Given the description of an element on the screen output the (x, y) to click on. 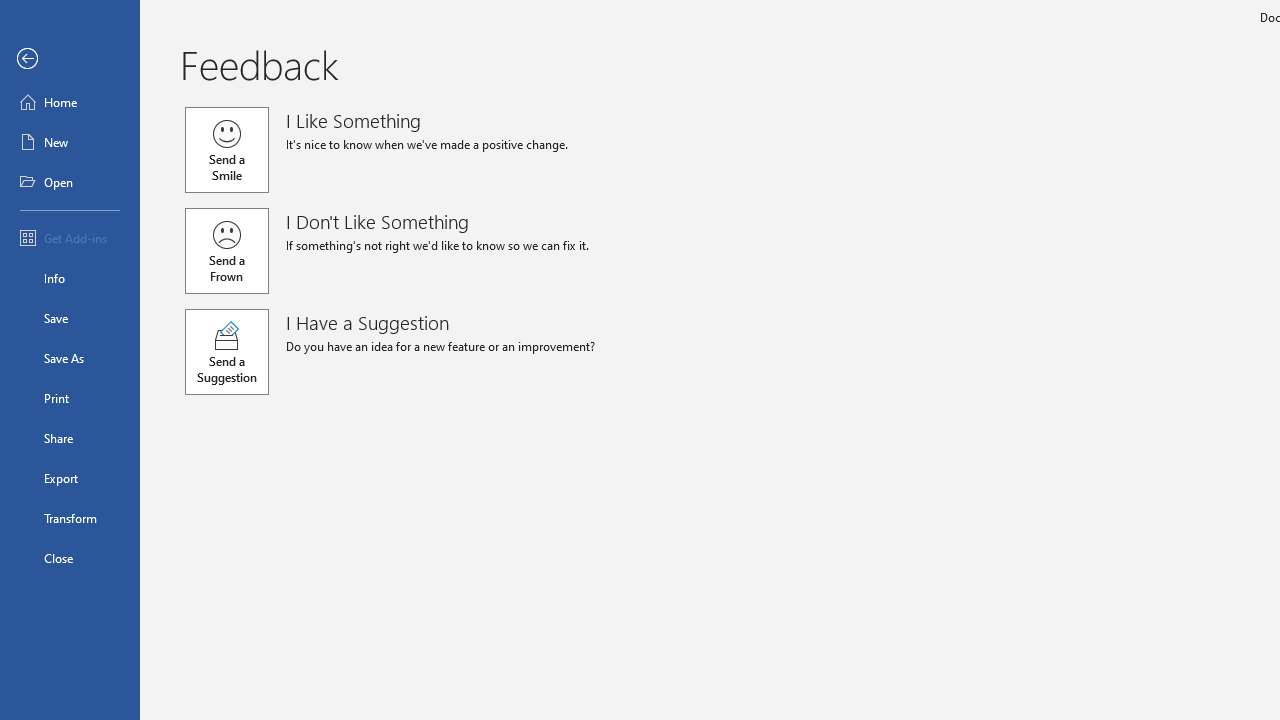
Send a Smile (226, 149)
Transform (69, 517)
Send a Frown (226, 250)
New (69, 141)
Info (69, 277)
Print (69, 398)
Send a Suggestion (226, 351)
Back (69, 59)
Save As (69, 357)
